Given the description of an element on the screen output the (x, y) to click on. 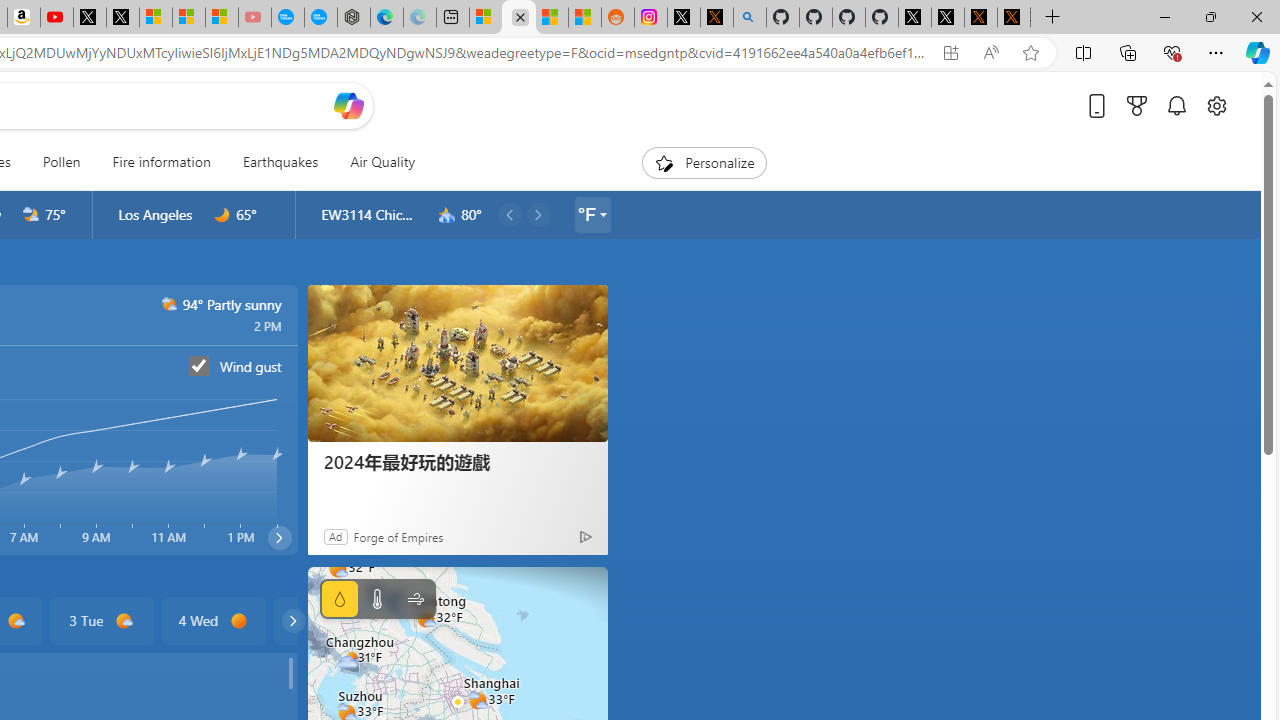
Fire information (161, 162)
Wind gust (199, 365)
Earthquakes (280, 162)
3 Tue d1000 (100, 620)
Log in to X / X (684, 17)
Fire information (161, 162)
n2000 (31, 215)
Profile / X (914, 17)
Earthquakes (279, 162)
